Given the description of an element on the screen output the (x, y) to click on. 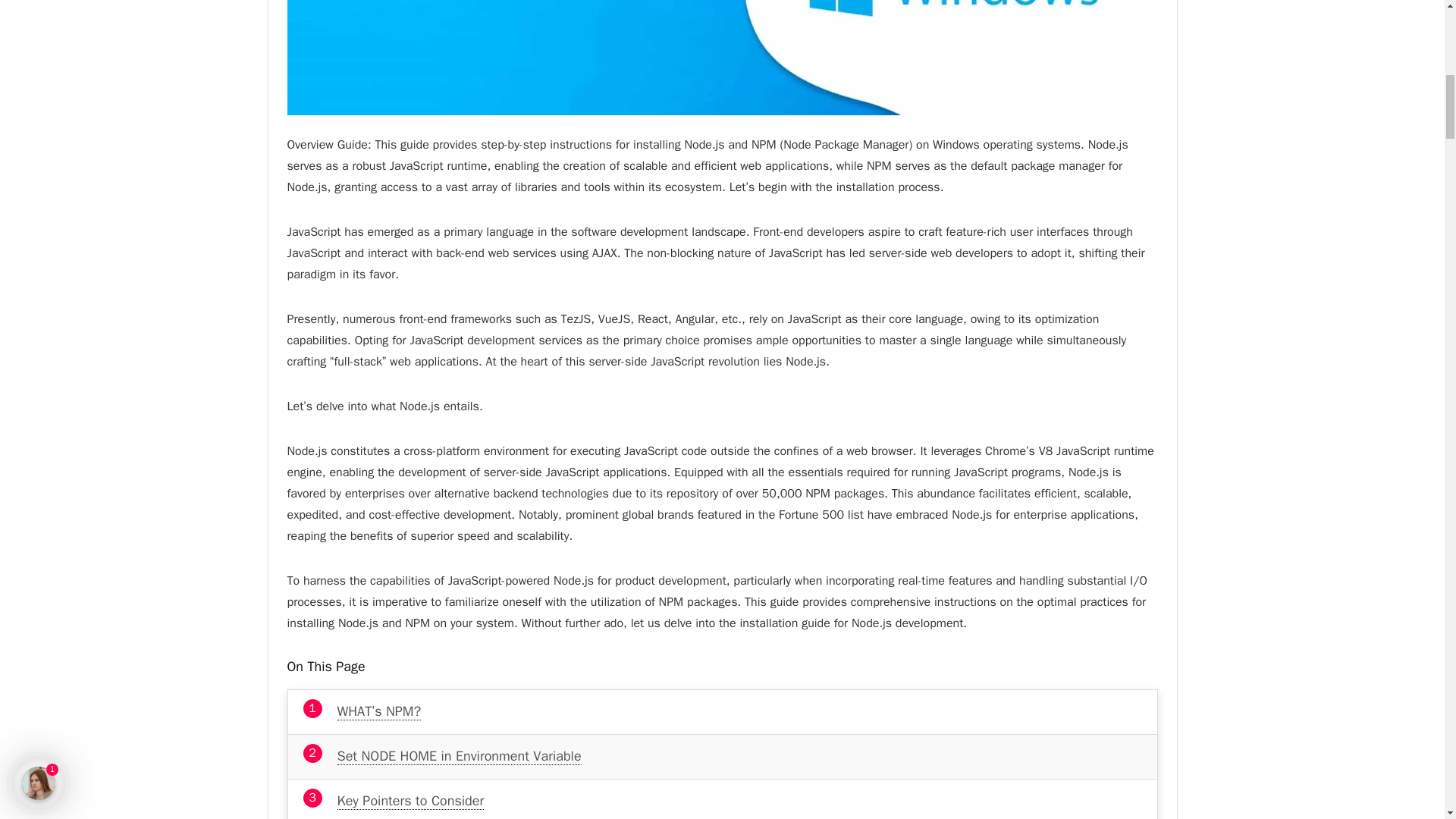
How to Install Node.js and NPM on Windows? 1 (721, 57)
